Given the description of an element on the screen output the (x, y) to click on. 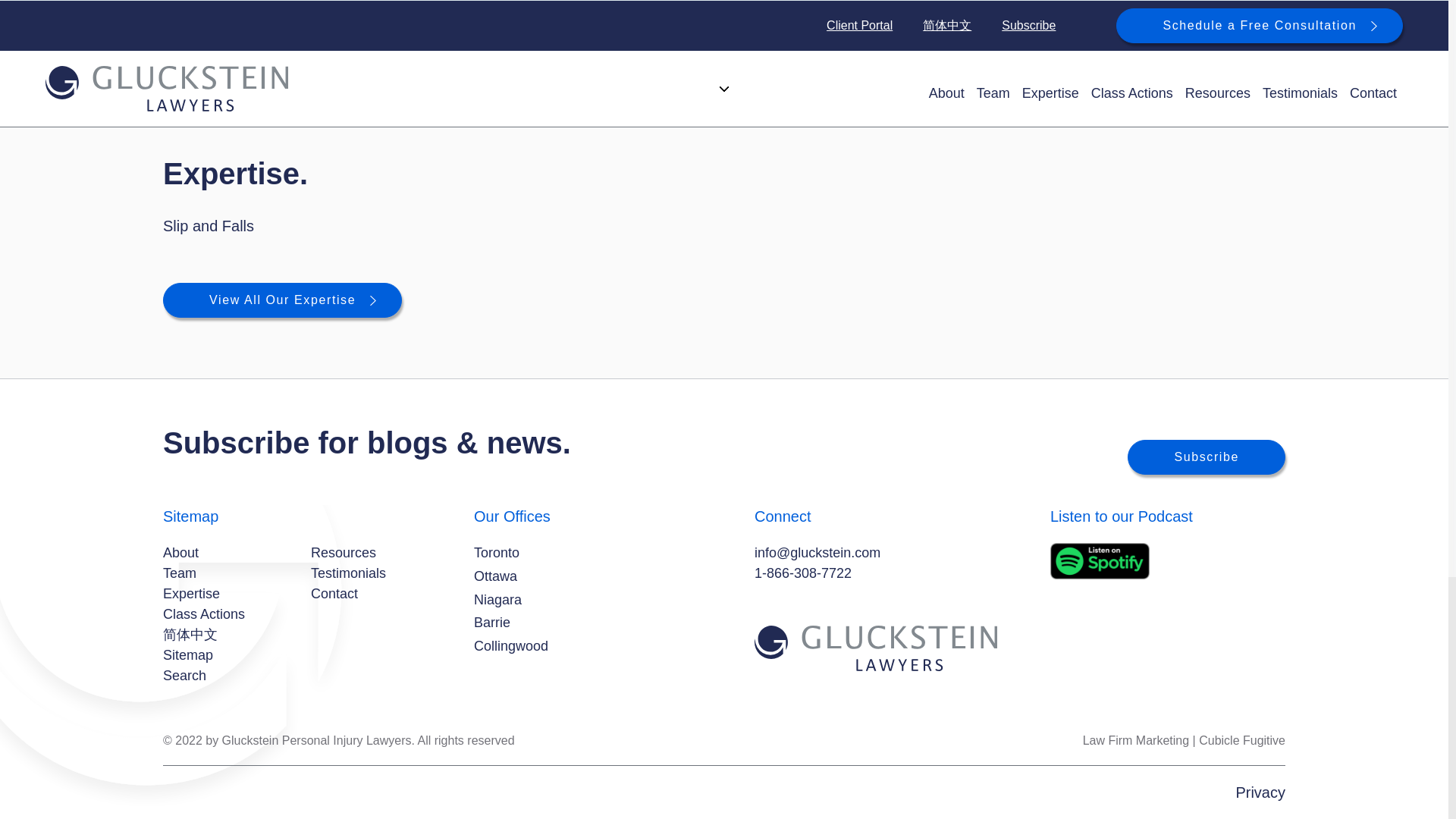
Collingwood (511, 646)
Slip and Falls (208, 225)
Toronto (496, 552)
Ottawa (495, 576)
Call Gluckstein LLP now (802, 572)
Barrie (492, 622)
Niagara (497, 599)
Email Gluckstein LLP now (817, 552)
